Given the description of an element on the screen output the (x, y) to click on. 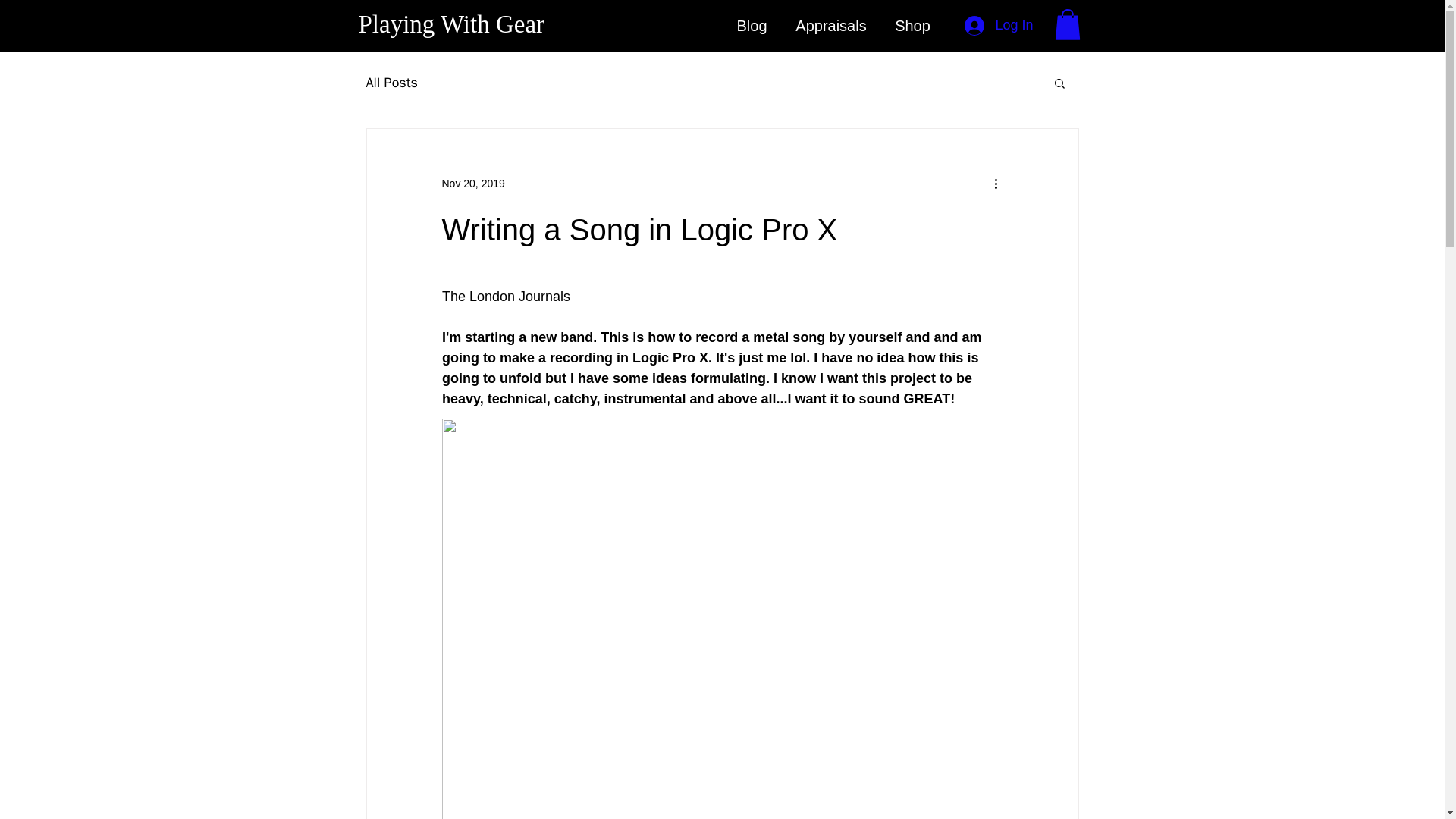
Blog (751, 25)
Nov 20, 2019 (472, 183)
Log In (998, 25)
All Posts (390, 82)
Shop (912, 25)
Appraisals (830, 25)
